Given the description of an element on the screen output the (x, y) to click on. 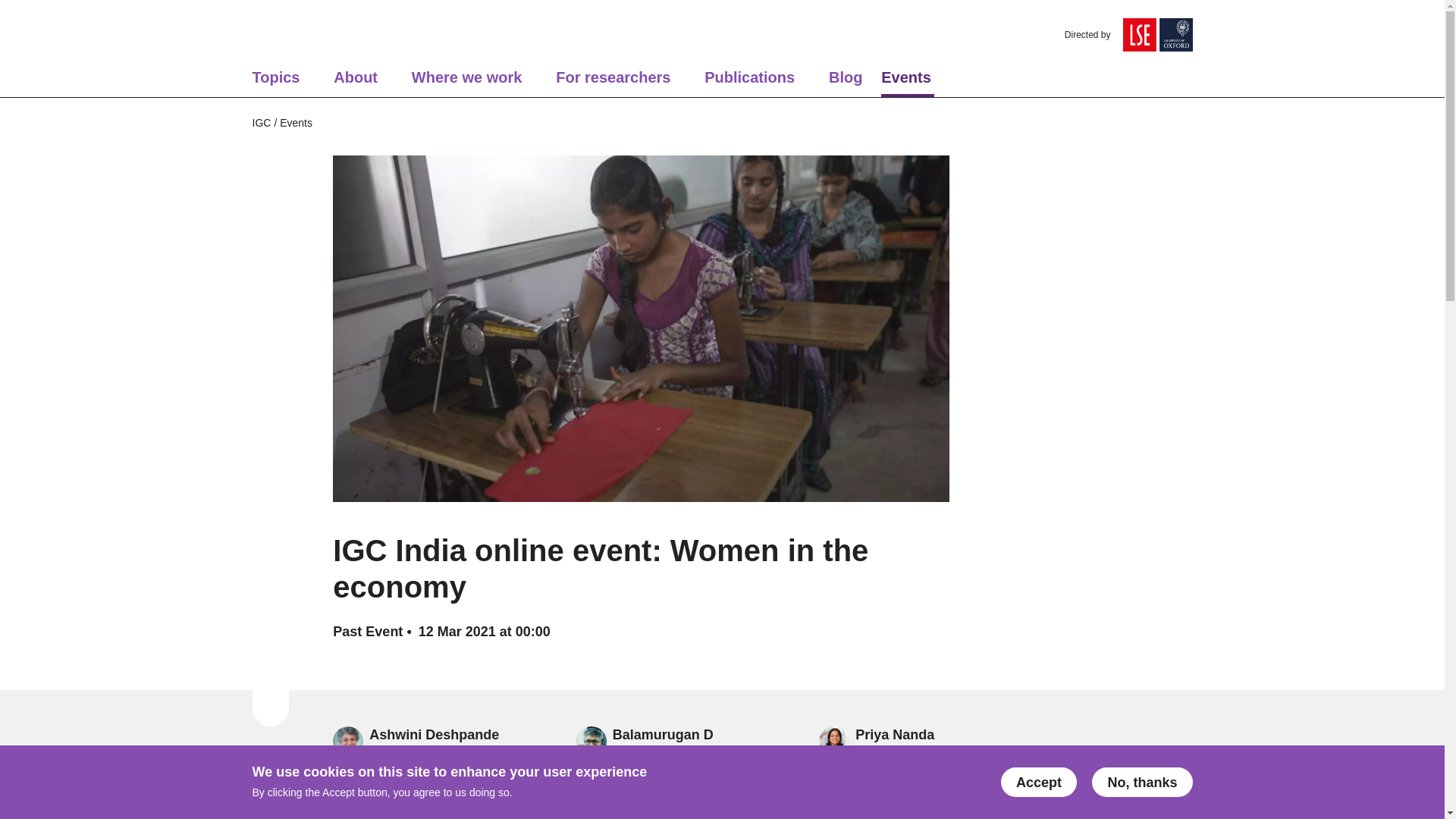
Topics (275, 81)
Return to the homepage (285, 34)
Affiliate logo (1139, 34)
Where we work (467, 81)
About (355, 81)
Affiliate logo (1175, 34)
